Given the description of an element on the screen output the (x, y) to click on. 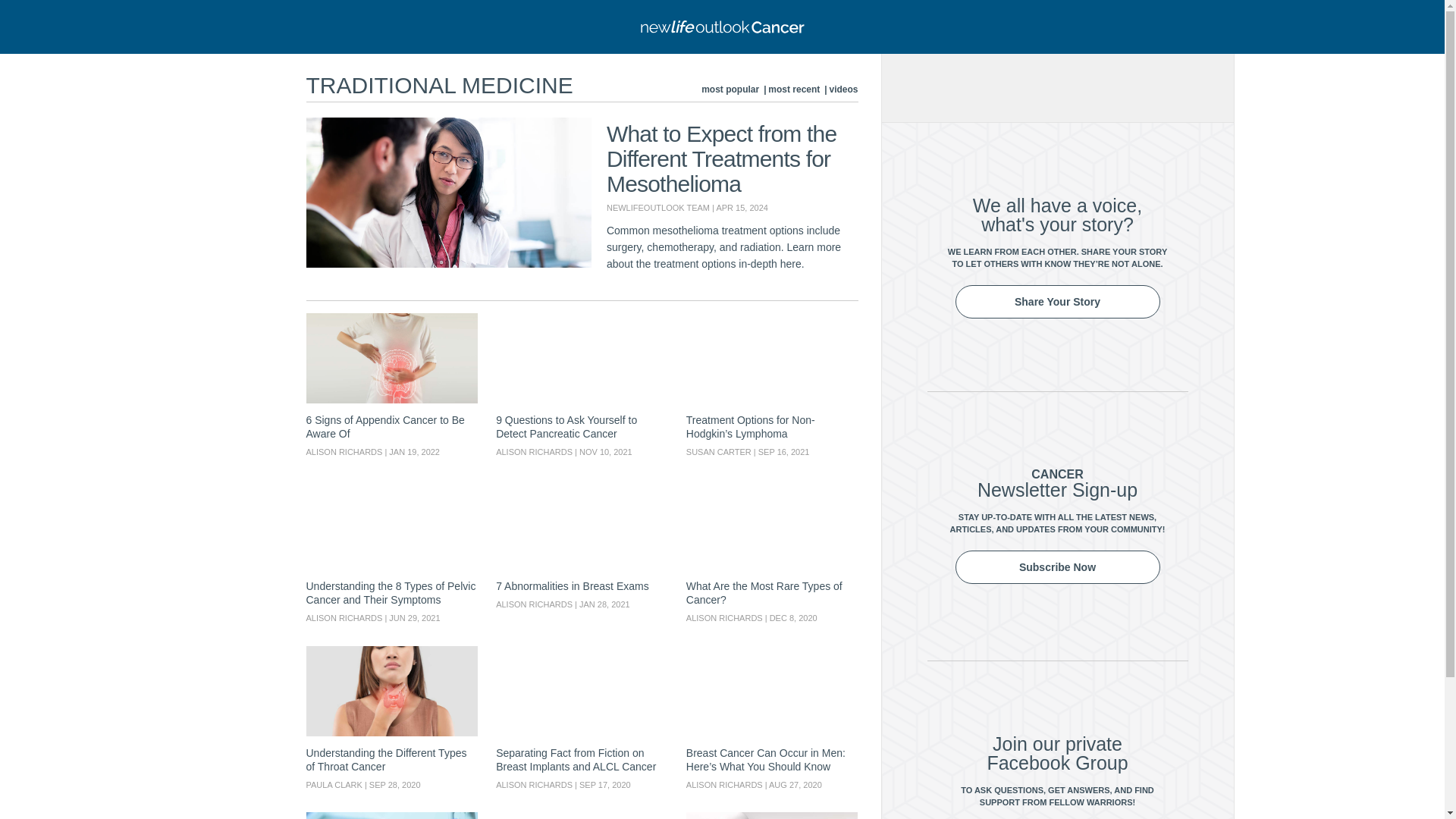
ALISON RICHARDS (343, 451)
SUSAN CARTER (718, 451)
ALISON RICHARDS (534, 784)
Share Your Story (1057, 301)
How Is Our DNA Connected to Cancer? (392, 815)
6 Signs of Appendix Cancer to Be Aware Of (392, 357)
What Are the Most Rare Types of Cancer? (772, 524)
ALISON RICHARDS (343, 617)
ALISON RICHARDS (723, 784)
